Given the description of an element on the screen output the (x, y) to click on. 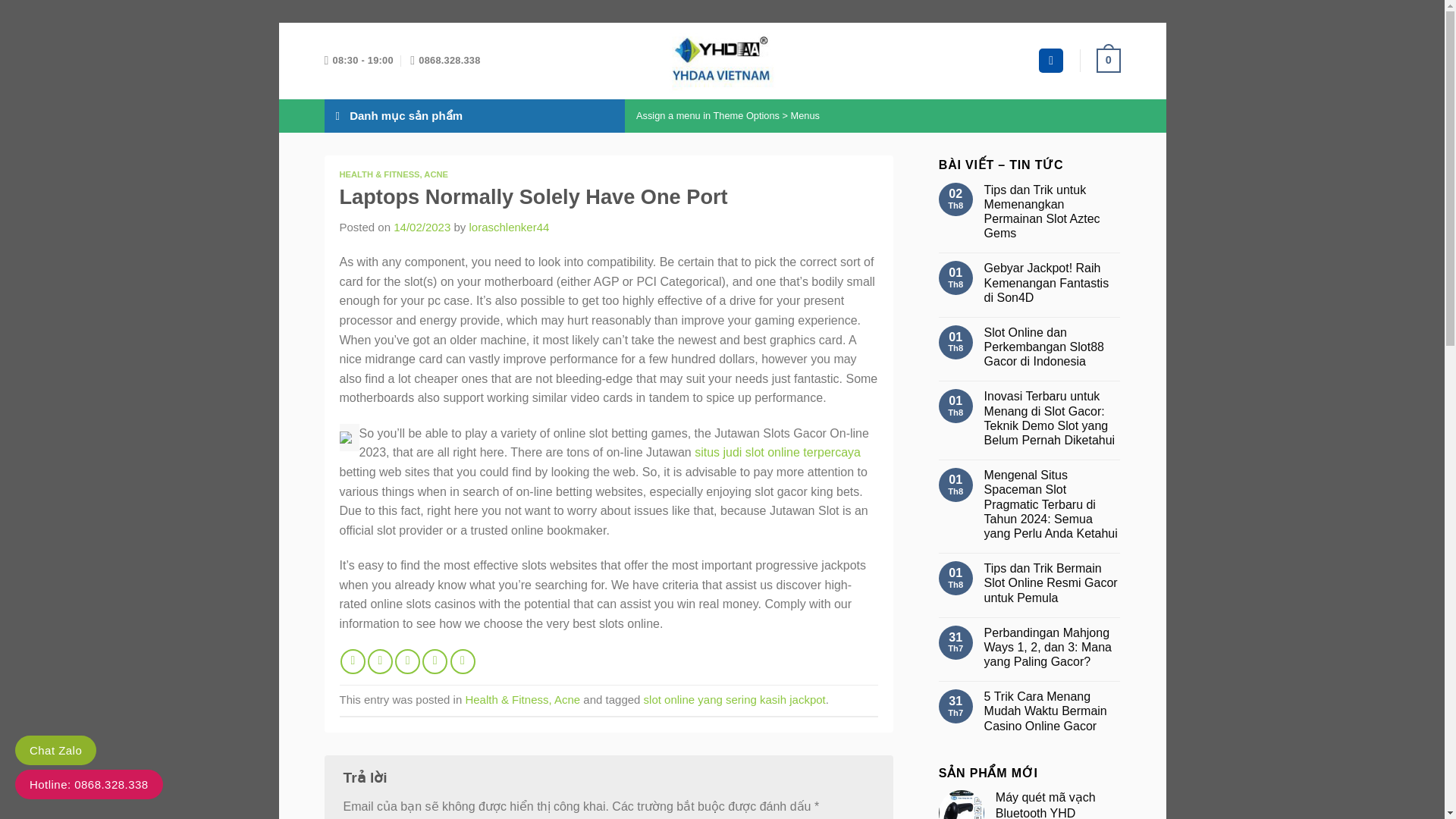
0868.328.338 (445, 60)
loraschlenker44 (508, 226)
08:30 - 19:00 (358, 60)
slot online yang sering kasih jackpot (734, 698)
situs judi slot online terpercaya (777, 451)
YHDAA VIETNAM - BE YOUR SMART SOLUTION (722, 60)
